Given the description of an element on the screen output the (x, y) to click on. 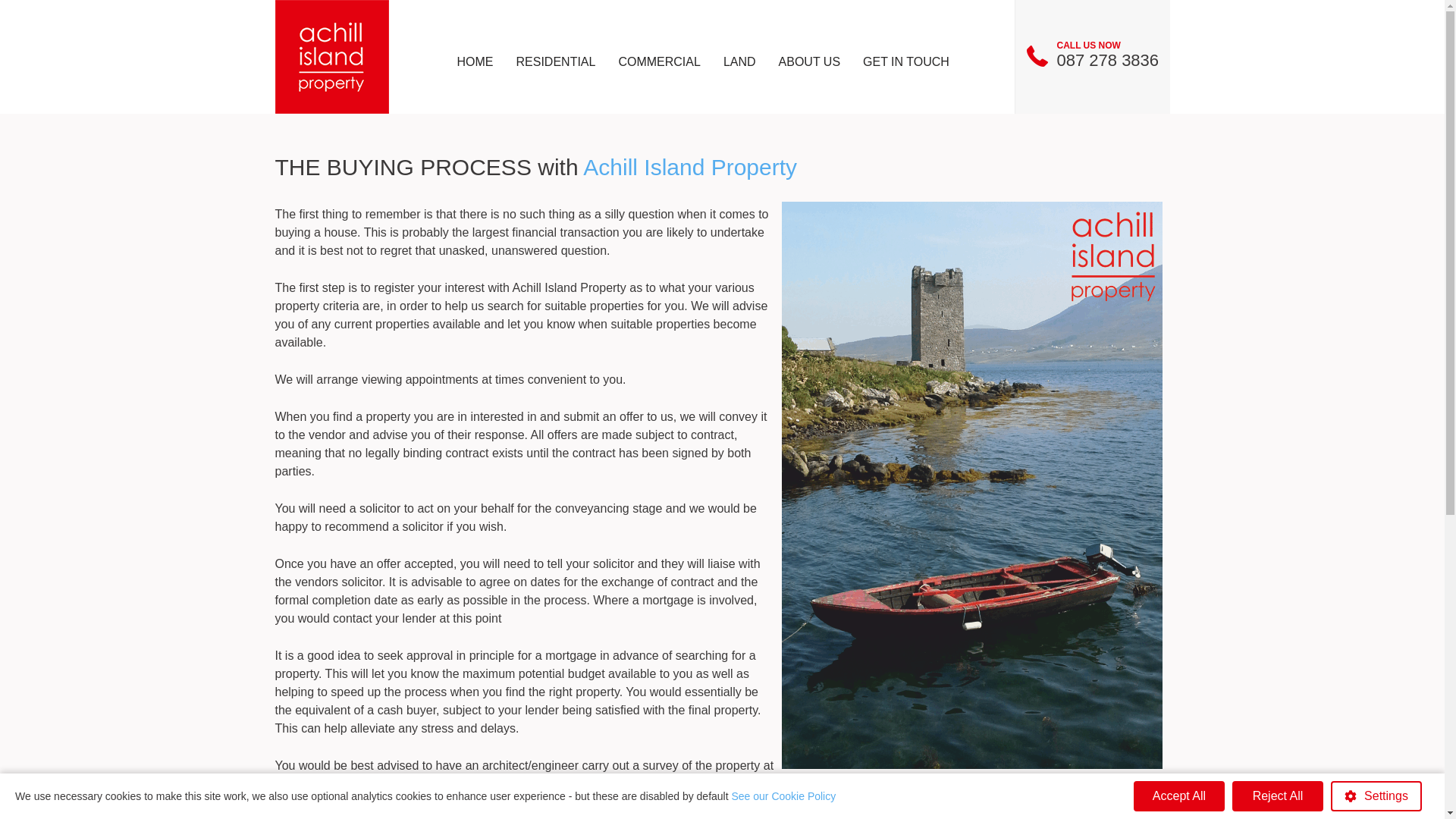
ABOUT US (809, 61)
GET IN TOUCH (905, 61)
commercial (659, 61)
HOME (475, 61)
RESIDENTIAL (556, 61)
land (739, 61)
get-in-touch (905, 61)
COMMERCIAL (659, 61)
residential (556, 61)
about-us (809, 61)
LAND (739, 61)
